Given the description of an element on the screen output the (x, y) to click on. 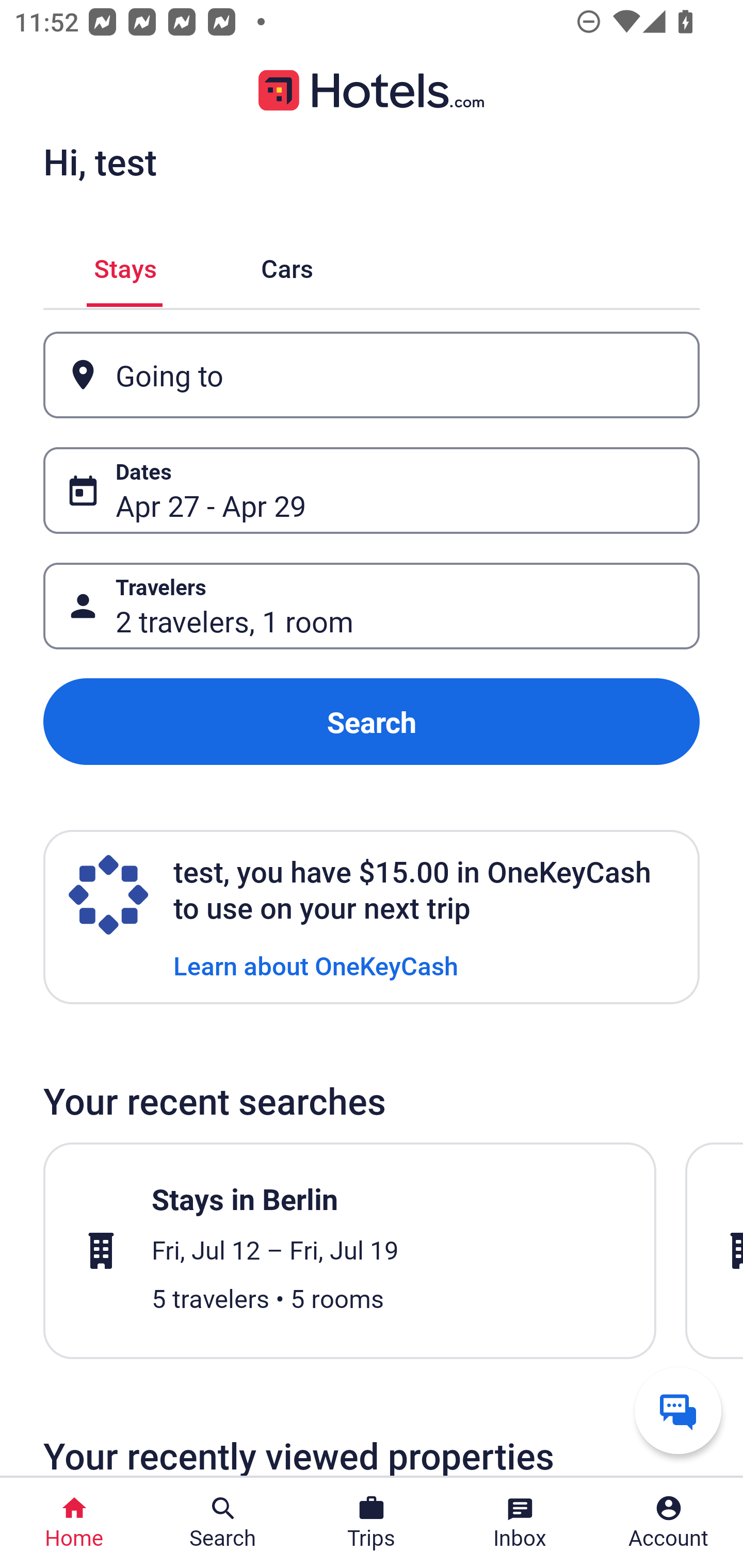
Hi, test (99, 161)
Cars (286, 265)
Going to Button (371, 375)
Dates Button Apr 27 - Apr 29 (371, 489)
Travelers Button 2 travelers, 1 room (371, 605)
Search (371, 721)
Learn about OneKeyCash Learn about OneKeyCash Link (315, 964)
Get help from a virtual agent (677, 1410)
Search Search Button (222, 1522)
Trips Trips Button (371, 1522)
Inbox Inbox Button (519, 1522)
Account Profile. Button (668, 1522)
